Given the description of an element on the screen output the (x, y) to click on. 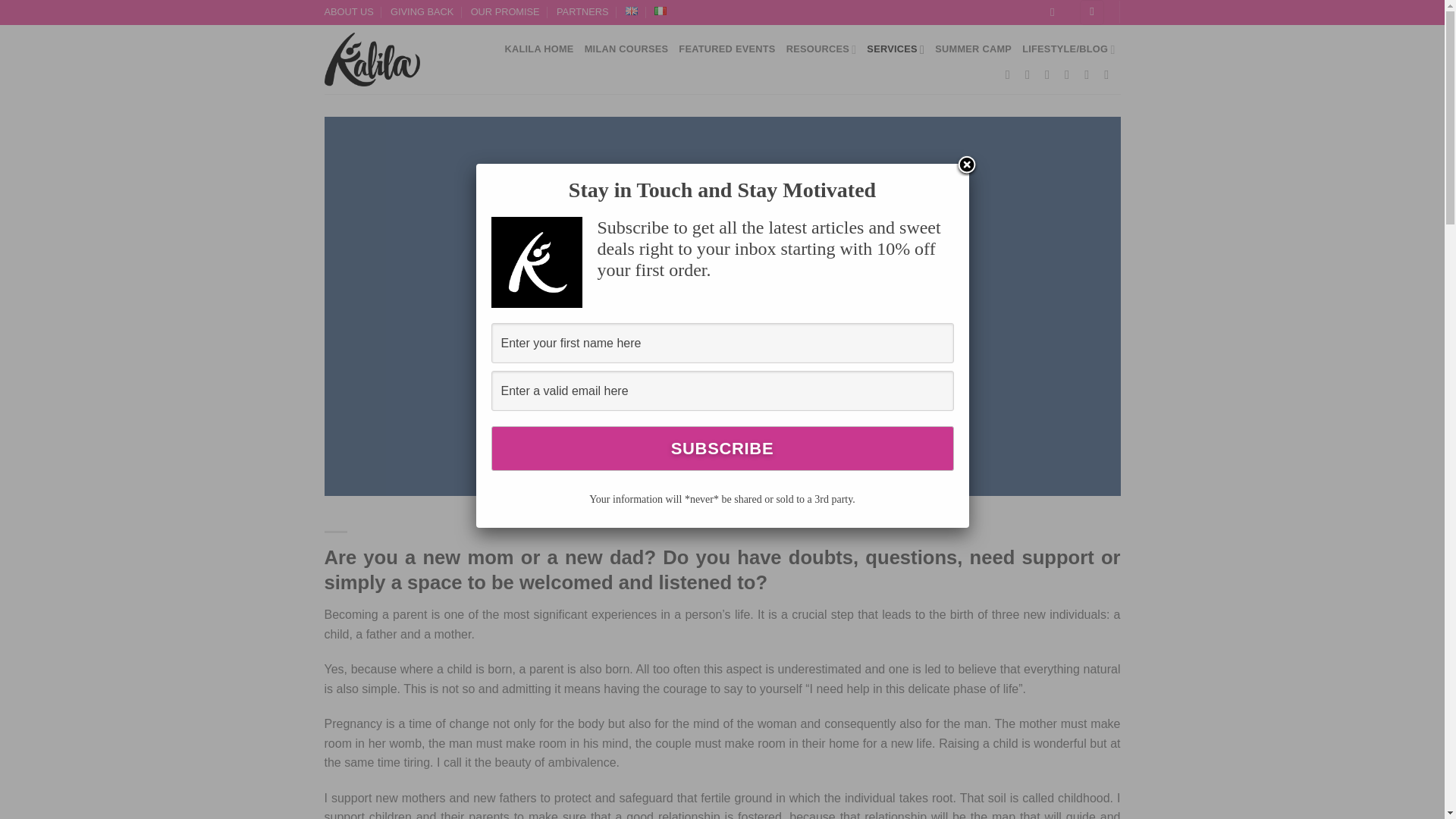
PARTNERS (582, 11)
FEATURED EVENTS (726, 49)
SERVICES (895, 49)
Close (966, 165)
ABOUT US (349, 11)
KALILA HOME (538, 49)
OUR PROMISE (505, 11)
Subscribe (722, 447)
GIVING BACK (421, 11)
SUMMER CAMP (972, 49)
